Given the description of an element on the screen output the (x, y) to click on. 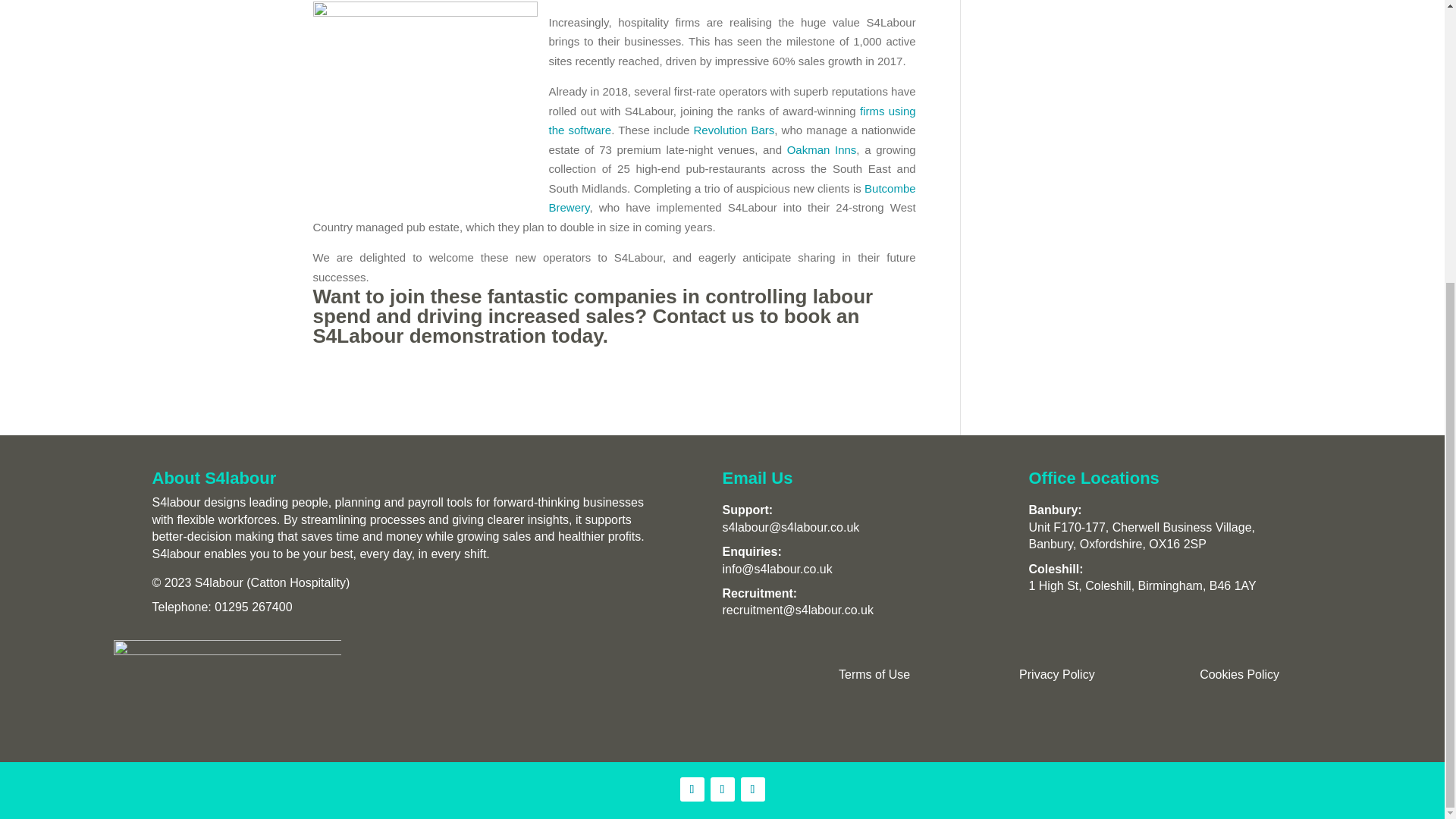
Follow on Facebook (751, 789)
Follow on Twitter (721, 789)
S4labour - Core Logo FULL WHITE (226, 690)
Follow on LinkedIn (691, 789)
